Given the description of an element on the screen output the (x, y) to click on. 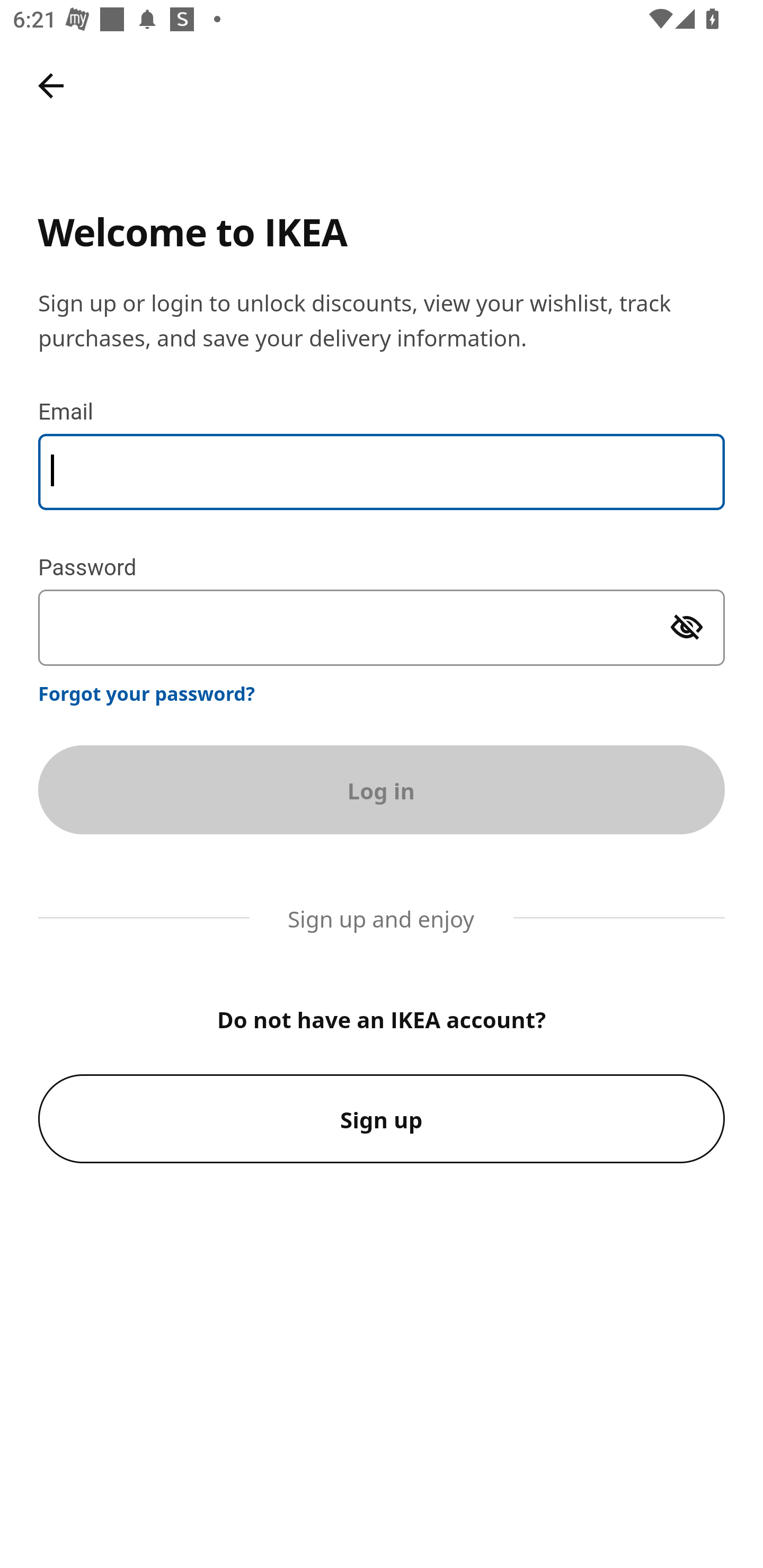
Forgot your password? (146, 692)
Log in (381, 789)
Sign up (381, 1118)
